Given the description of an element on the screen output the (x, y) to click on. 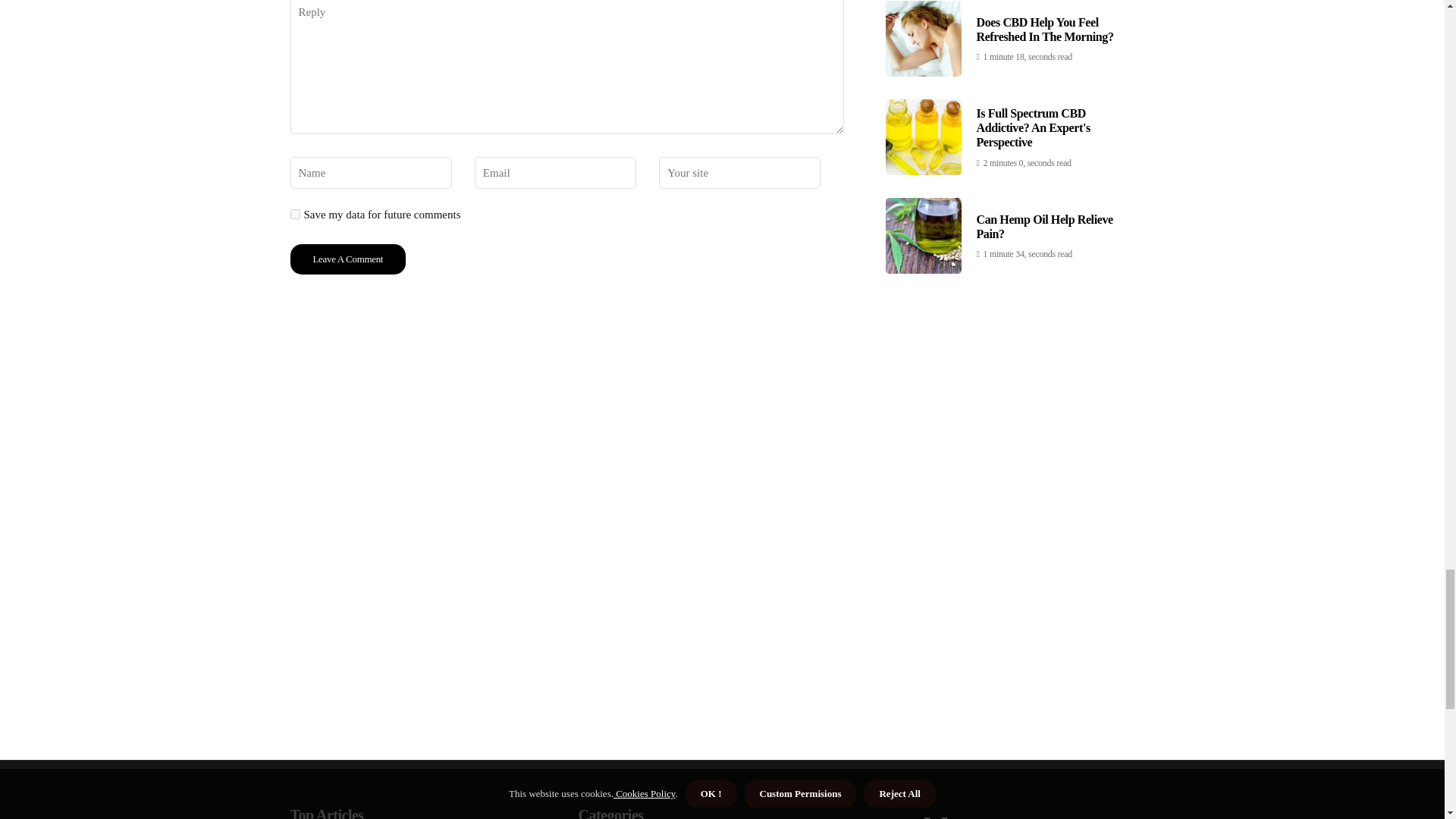
Leave a Comment (347, 259)
yes (294, 214)
